Given the description of an element on the screen output the (x, y) to click on. 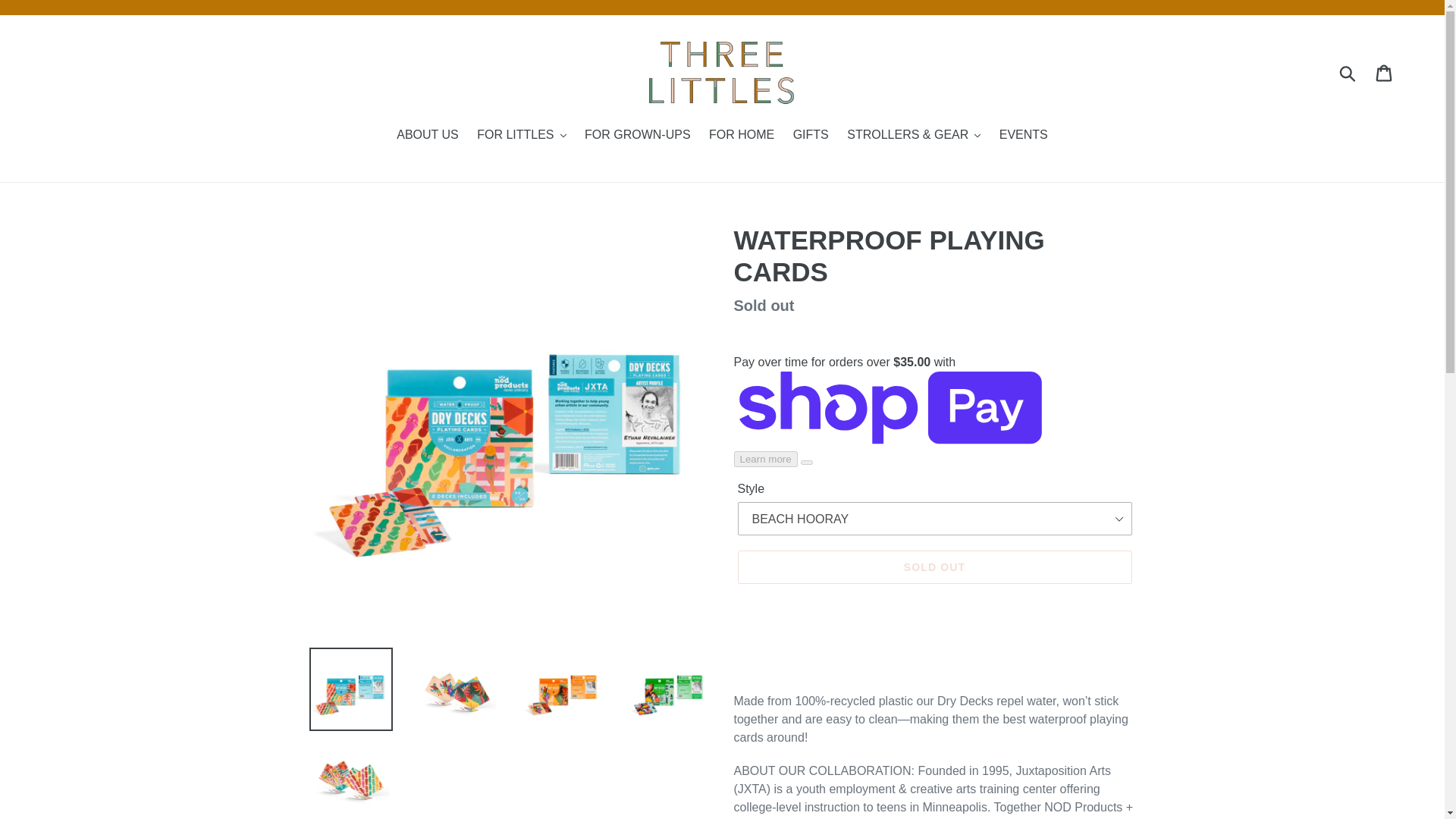
Cart (1385, 71)
ABOUT US (426, 136)
Submit (1348, 71)
